Given the description of an element on the screen output the (x, y) to click on. 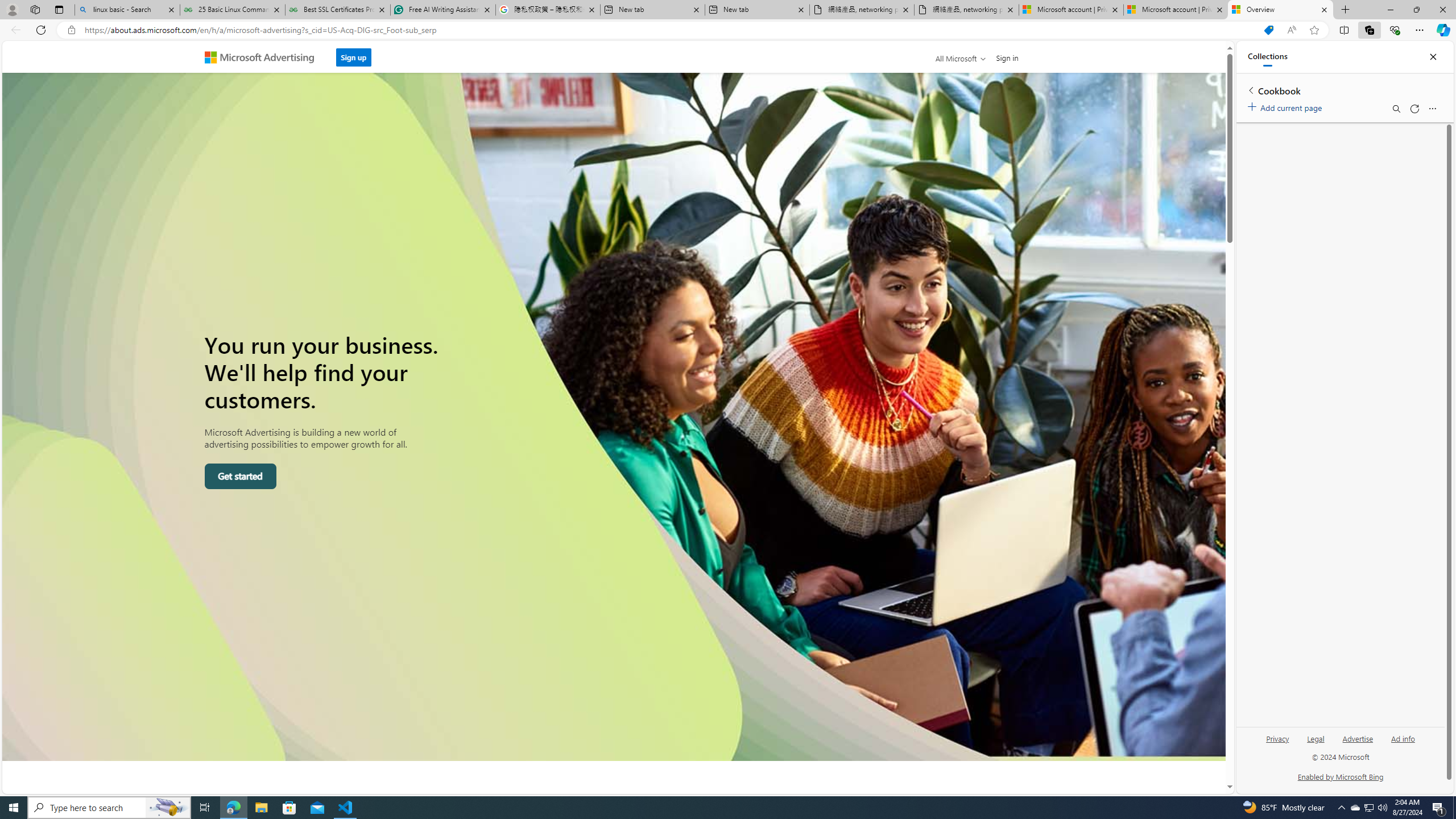
Add current page (1286, 105)
Get started (239, 476)
